Given the description of an element on the screen output the (x, y) to click on. 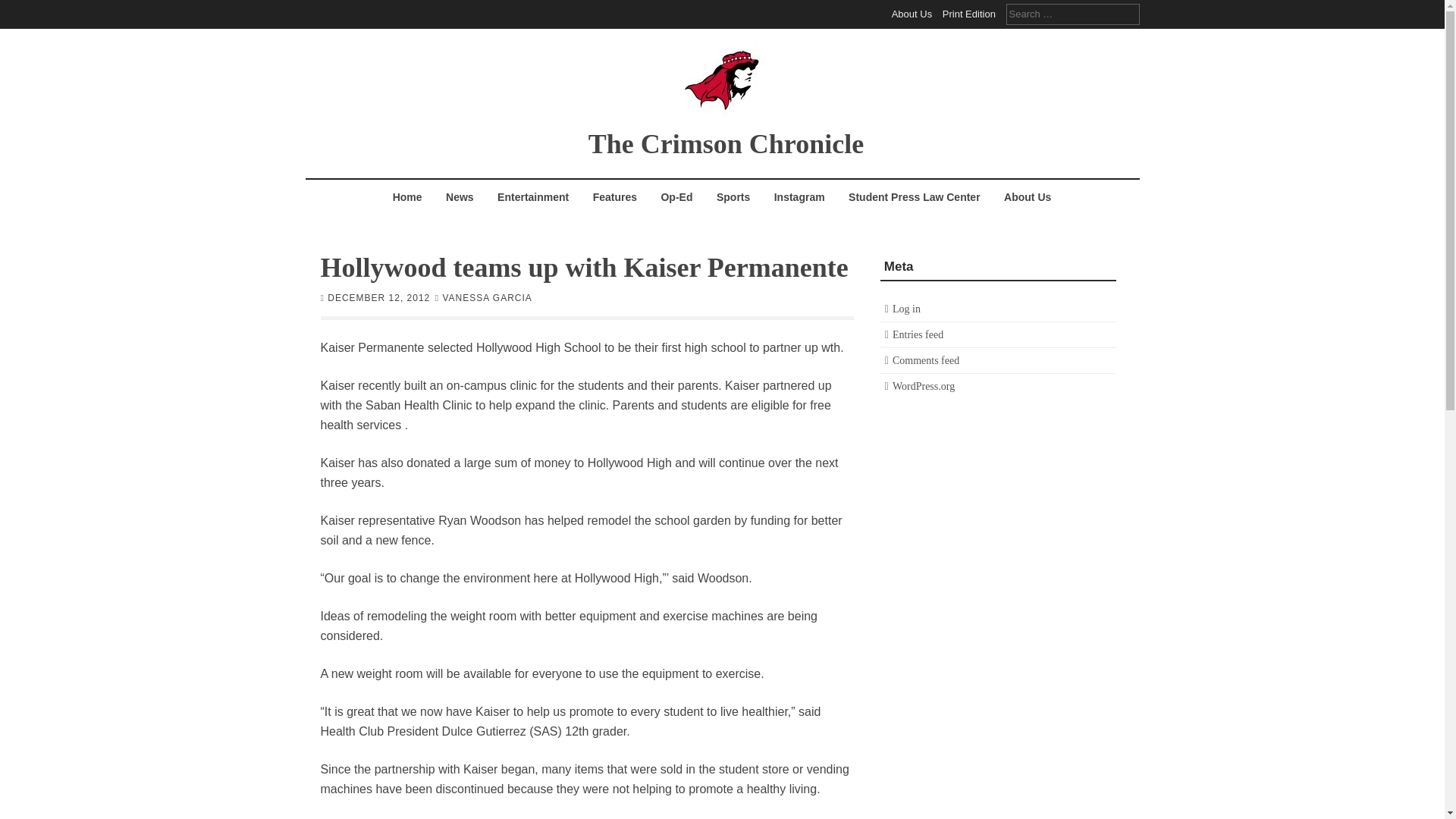
About Us (1027, 196)
About Us (911, 13)
Op-Ed (675, 196)
VANESSA GARCIA (486, 297)
Log in (906, 308)
Student Press Law Center (914, 196)
Search (23, 9)
Home (407, 196)
News (459, 196)
DECEMBER 12, 2012 (378, 297)
